Given the description of an element on the screen output the (x, y) to click on. 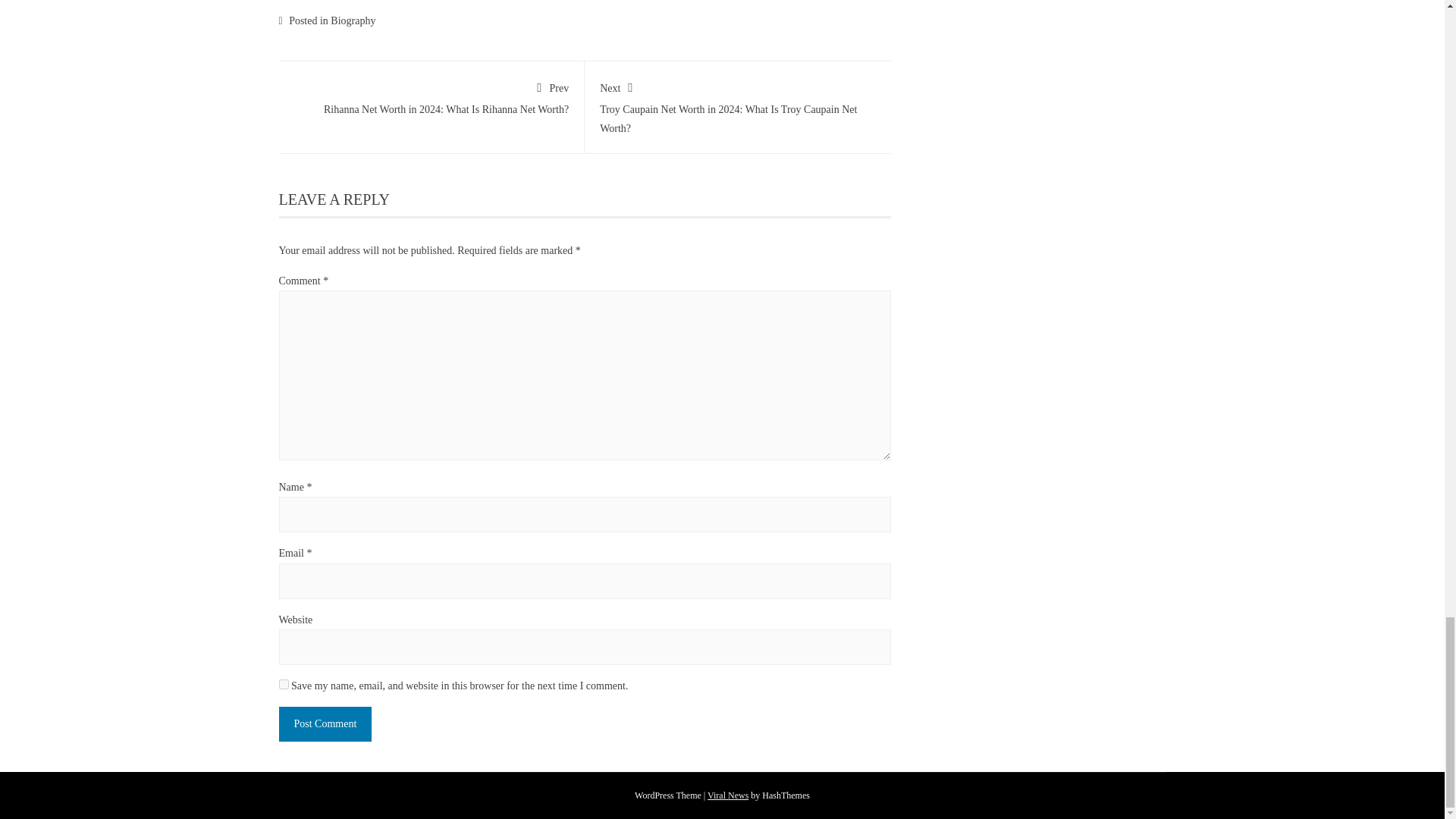
Post Comment (325, 723)
Post Comment (325, 723)
yes (283, 684)
Biography (352, 20)
Download Viral News (727, 795)
